Given the description of an element on the screen output the (x, y) to click on. 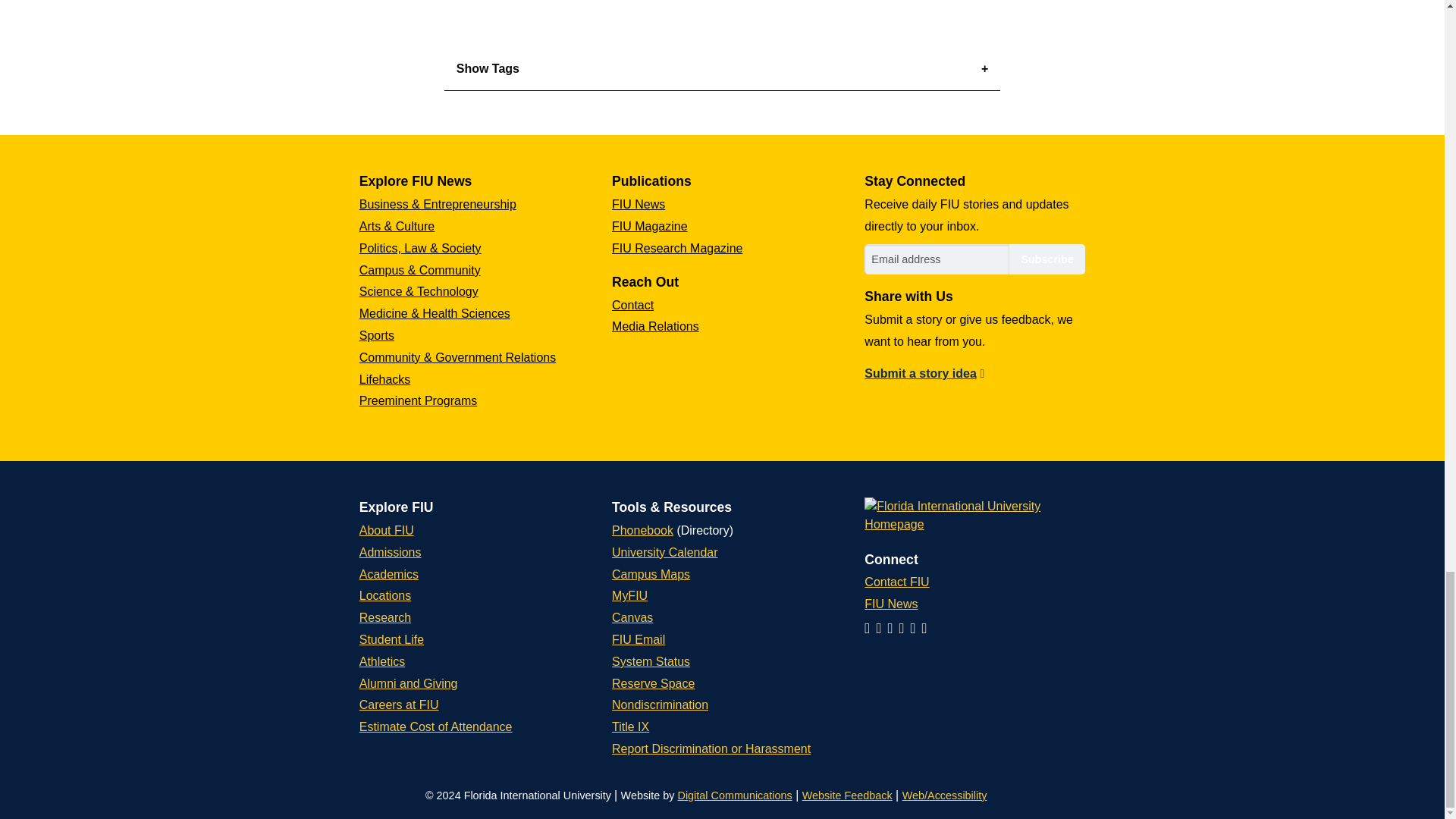
Sports (376, 335)
Lifehacks (384, 379)
Show Tags (722, 68)
Subscribe (1046, 259)
FIU News (638, 204)
Preeminent Programs (418, 400)
